Given the description of an element on the screen output the (x, y) to click on. 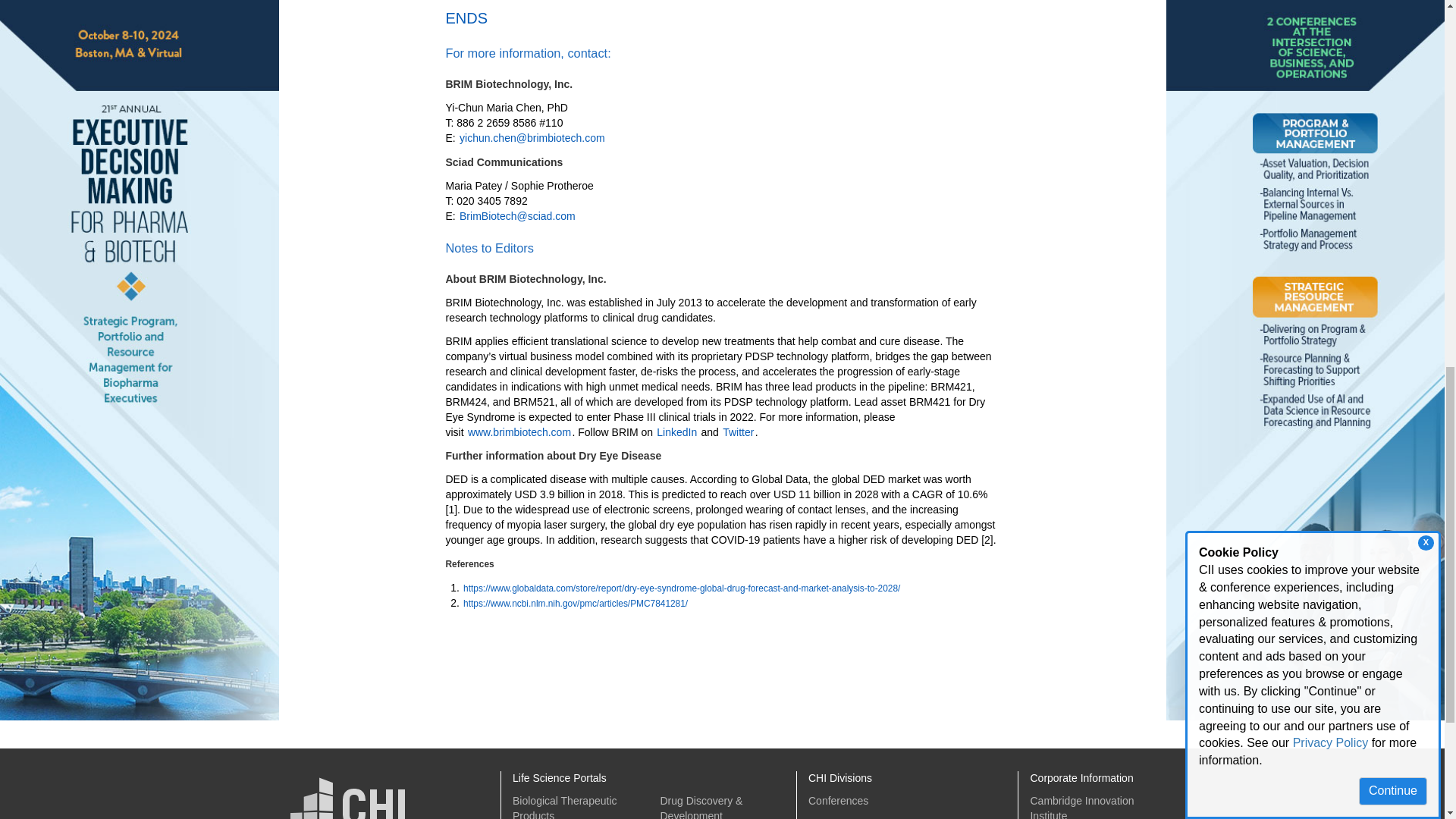
3rd party ad content (584, 668)
3rd party ad content (1093, 20)
